Given the description of an element on the screen output the (x, y) to click on. 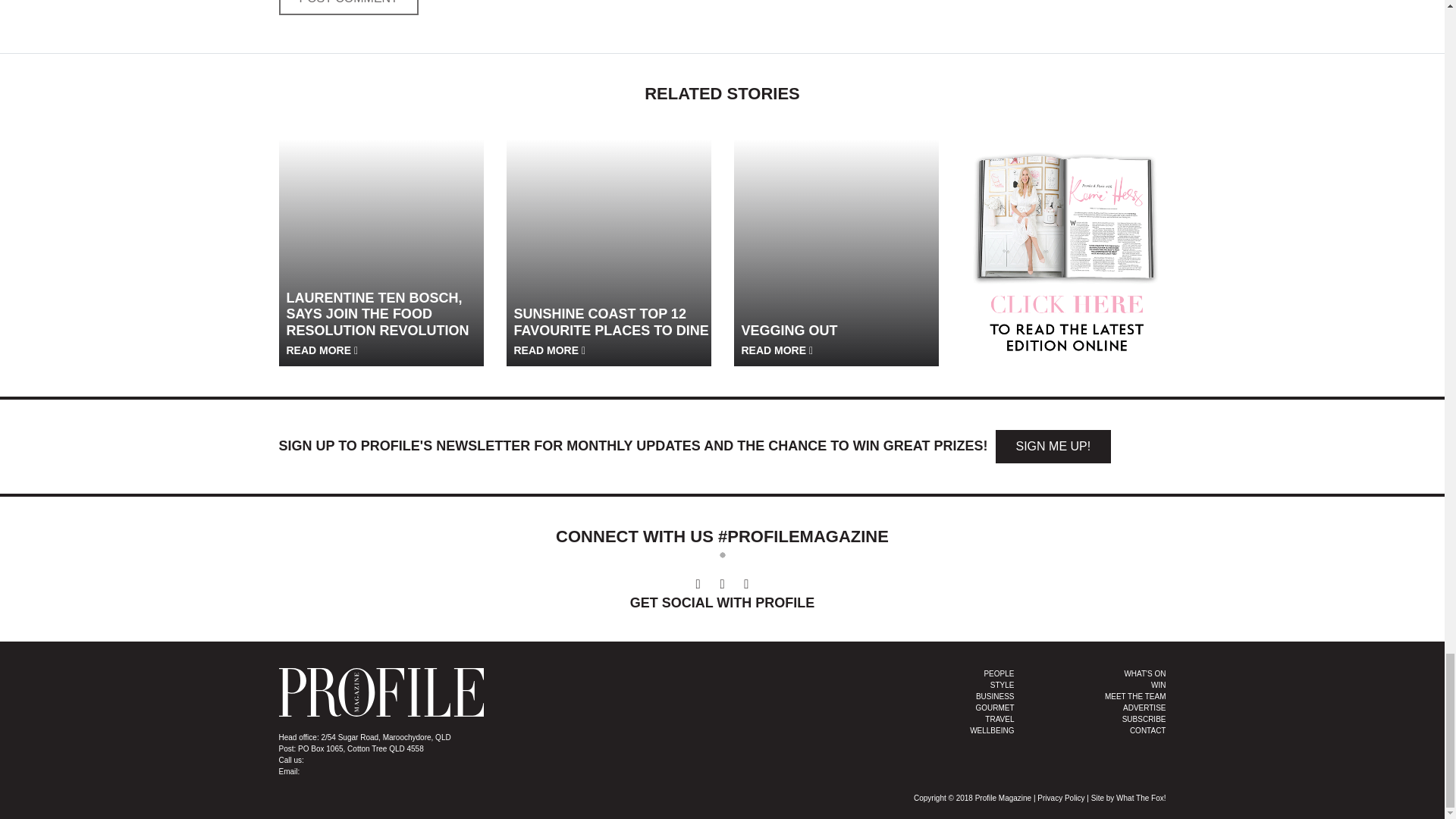
Vegging Out (836, 240)
Sunshine Coast Top 12 favourite places to dine (608, 240)
READ MORE (322, 349)
READ MORE (549, 349)
Post Comment (349, 7)
SUNSHINE COAST TOP 12 FAVOURITE PLACES TO DINE (613, 331)
subscribe to our newsletter (1052, 446)
Post Comment (349, 7)
